Given the description of an element on the screen output the (x, y) to click on. 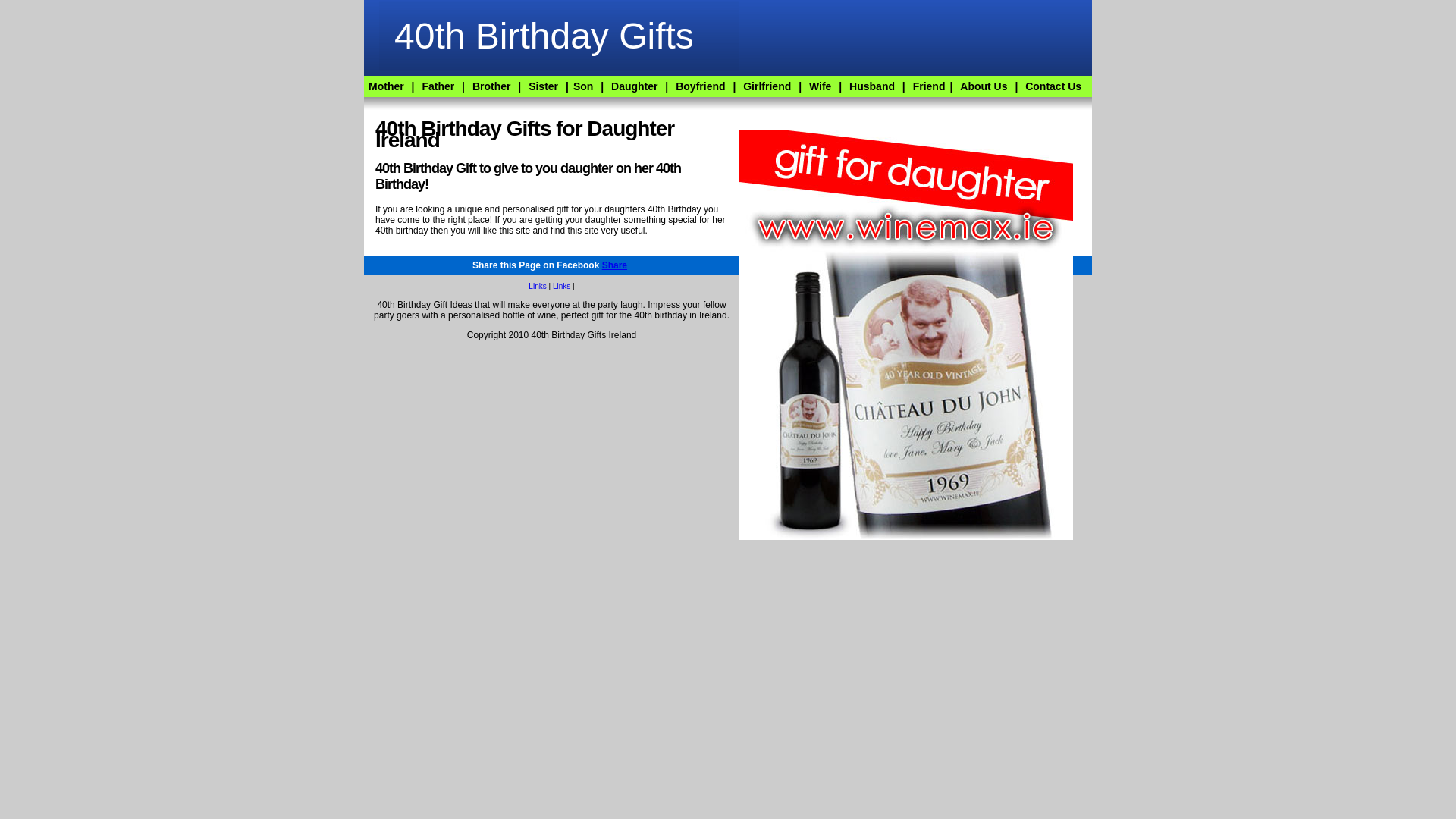
Father Element type: text (437, 86)
40th Birthday Gifts Element type: text (544, 35)
Links Element type: text (561, 286)
Daughter Element type: text (634, 86)
Mother Element type: text (386, 86)
Wife Element type: text (819, 86)
Girlfriend Element type: text (766, 86)
Contact Us Element type: text (1052, 86)
Sister Element type: text (543, 86)
Friend Element type: text (929, 86)
Son Element type: text (582, 86)
Share Element type: text (614, 265)
About Us Element type: text (983, 86)
Links Element type: text (537, 286)
Brother Element type: text (491, 86)
Husband Element type: text (871, 86)
Boyfriend Element type: text (700, 86)
